Given the description of an element on the screen output the (x, y) to click on. 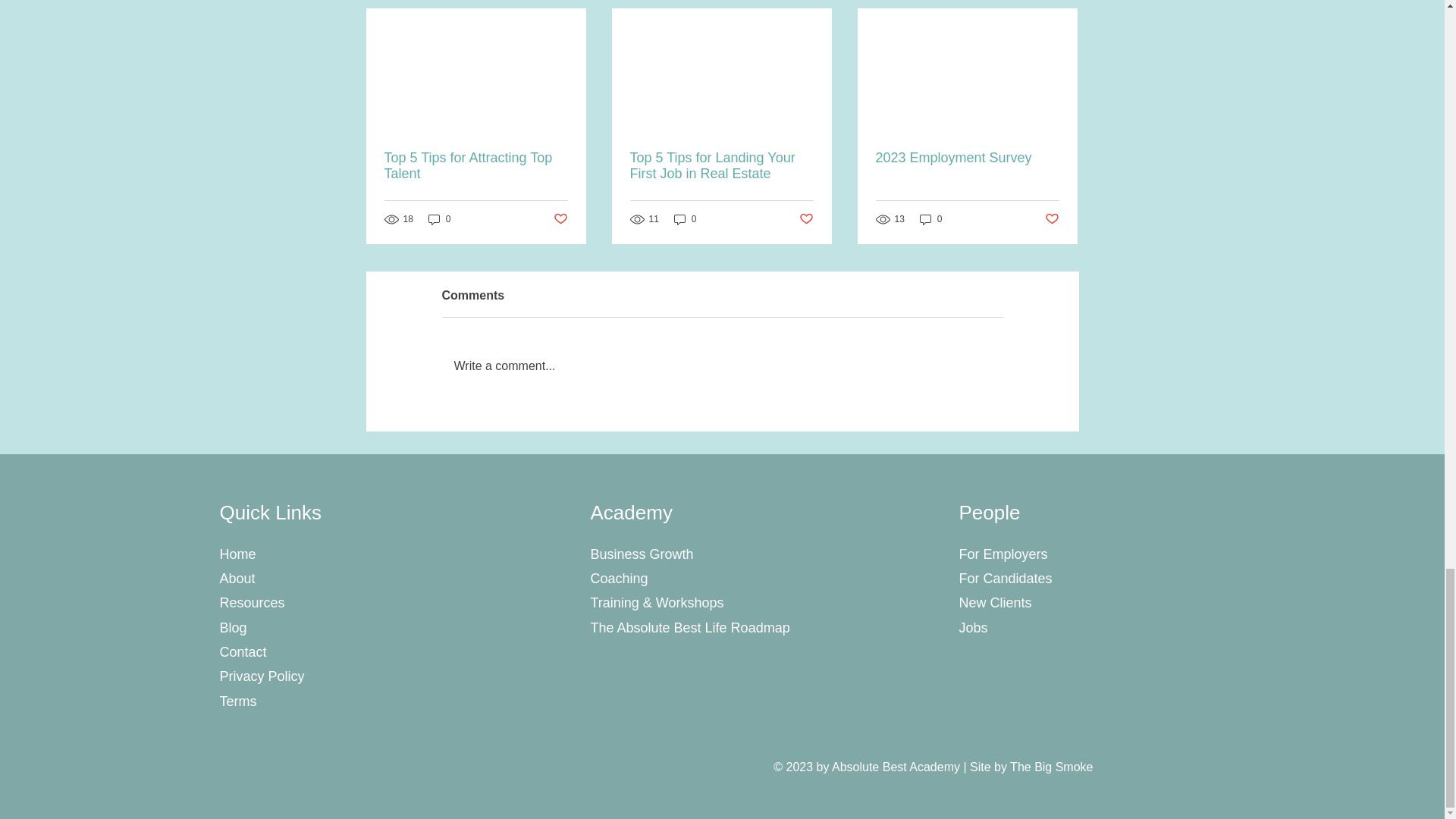
Post not marked as liked (1052, 219)
0 (685, 219)
Resources (252, 602)
Top 5 Tips for Landing Your First Job in Real Estate (720, 165)
Write a comment... (722, 365)
2023 Employment Survey (966, 157)
Home (237, 554)
About (237, 578)
0 (930, 219)
Top 5 Tips for Attracting Top Talent (475, 165)
0 (439, 219)
Post not marked as liked (560, 219)
Post not marked as liked (806, 219)
